Given the description of an element on the screen output the (x, y) to click on. 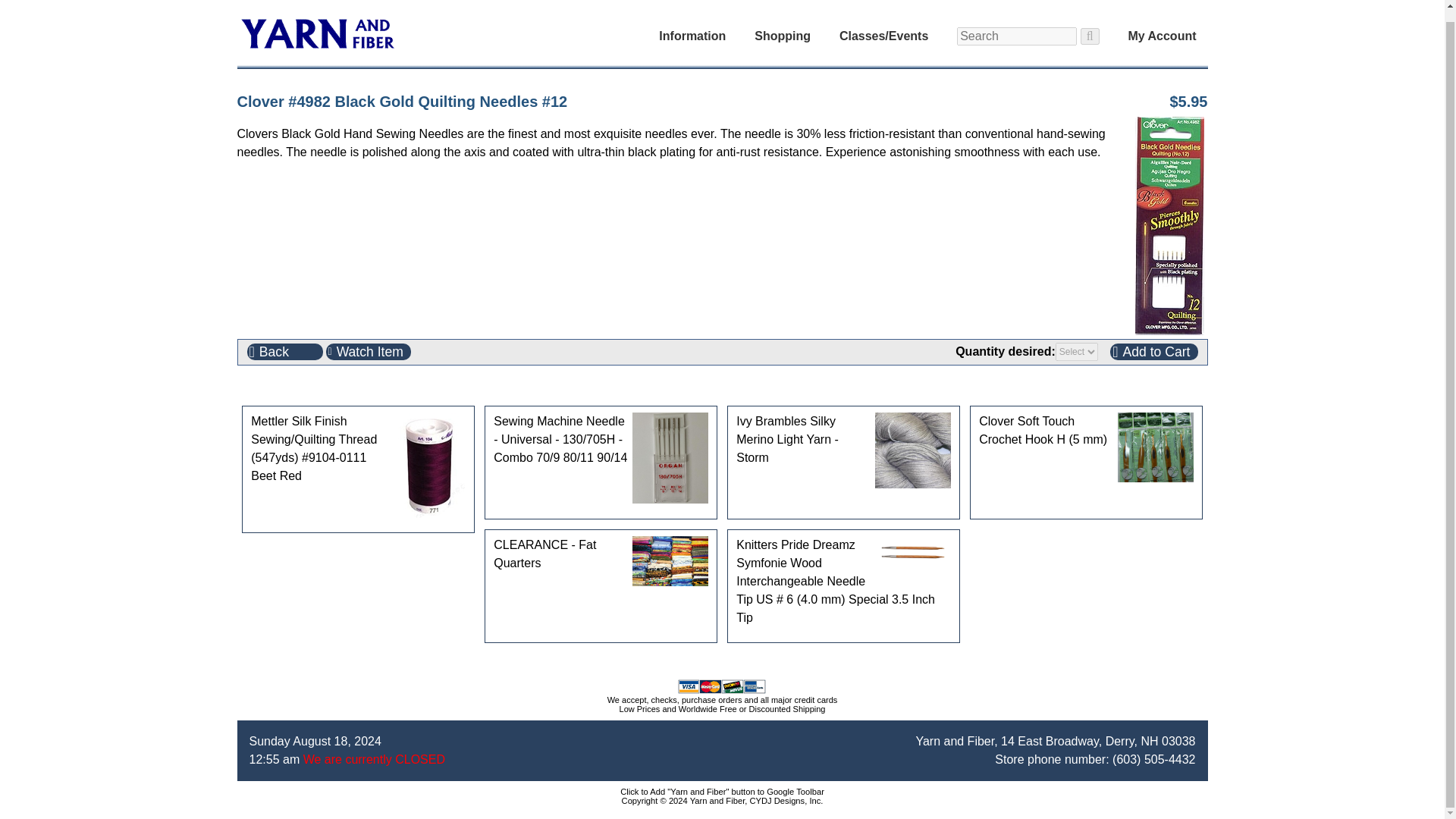
 Ivy Brambles Silky Merino Light Yarn - Storm  (912, 450)
 CLEARANCE - Fat Quarters  (669, 561)
 visa, mastercard, discover, amex  (722, 685)
Ivy Brambles Silky Merino Light Yarn - Storm (842, 439)
